Given the description of an element on the screen output the (x, y) to click on. 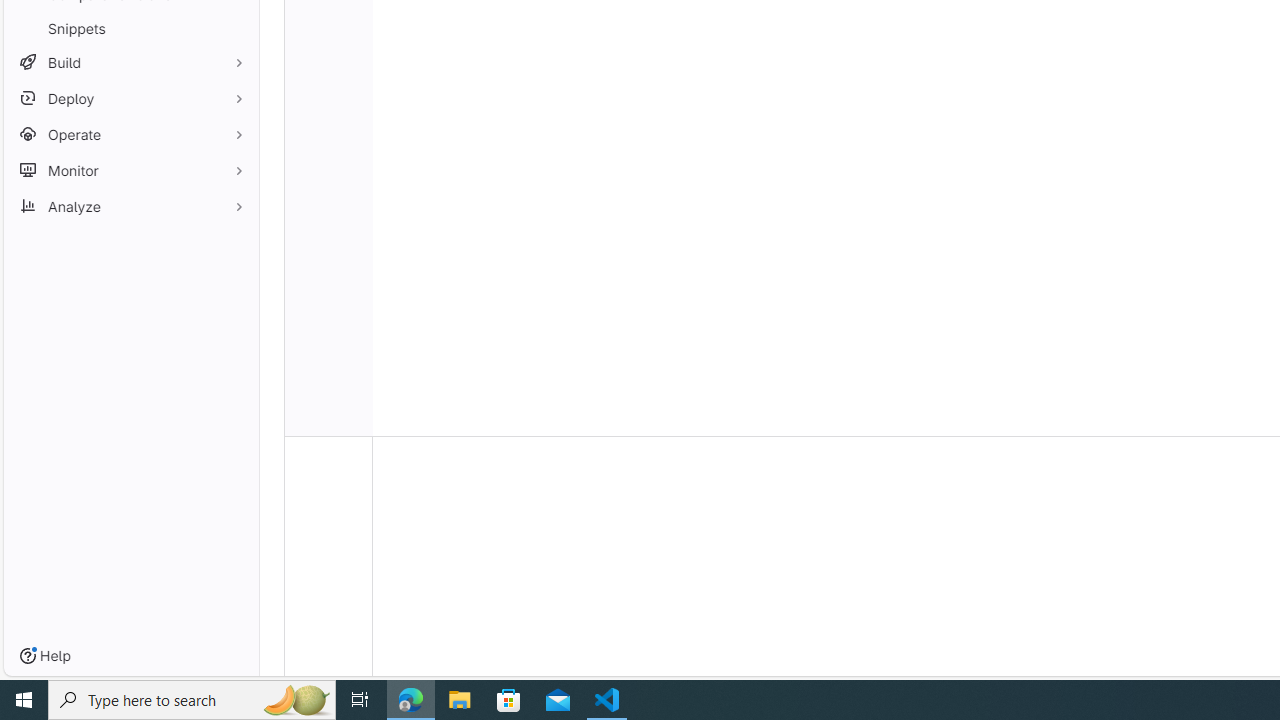
Snippets (130, 28)
